Given the description of an element on the screen output the (x, y) to click on. 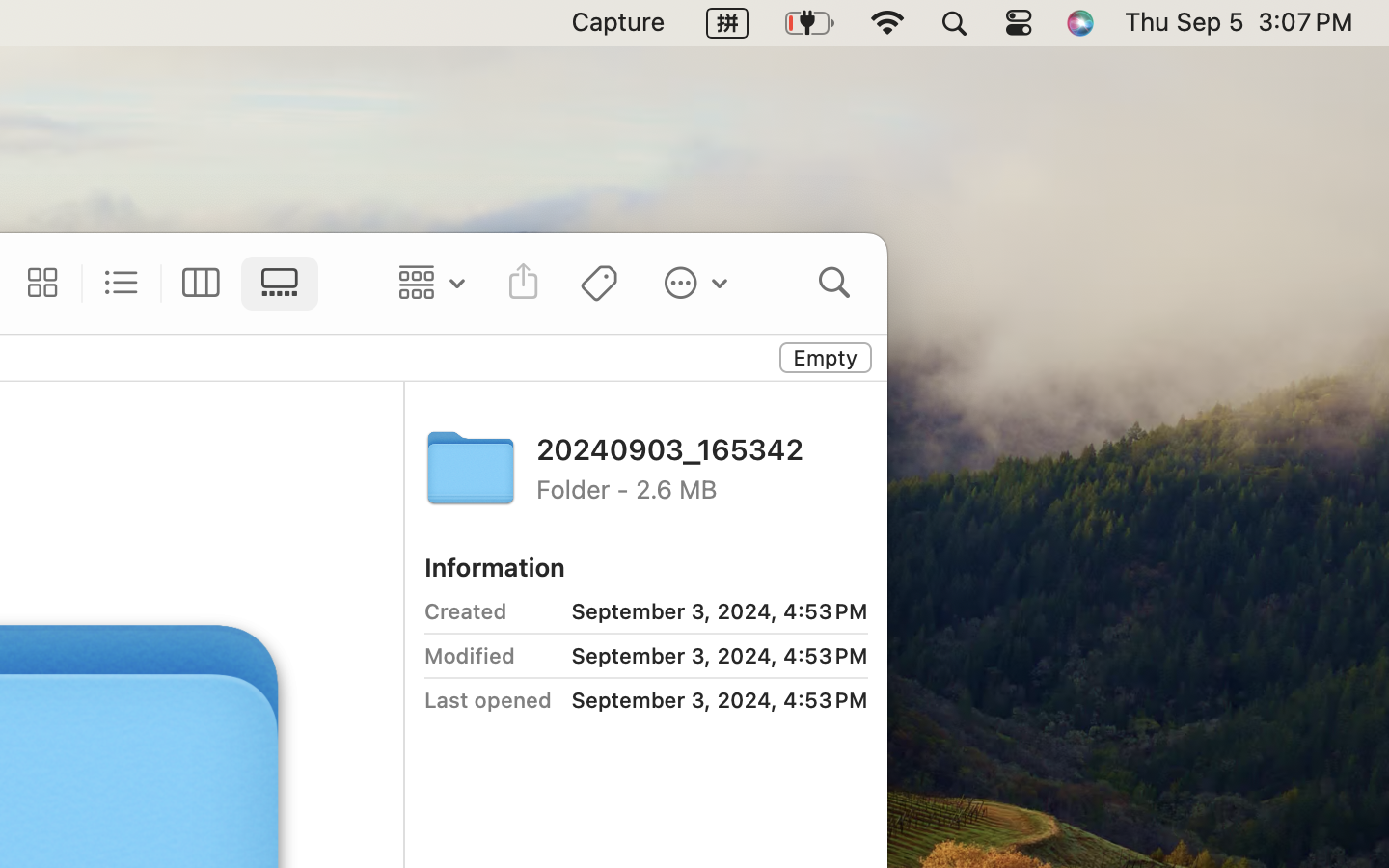
Folder - 2.6 MB Element type: AXStaticText (701, 487)
Modified Element type: AXStaticText (469, 655)
September 3, 2024, 4:53 PM Element type: AXStaticText (694, 610)
